Given the description of an element on the screen output the (x, y) to click on. 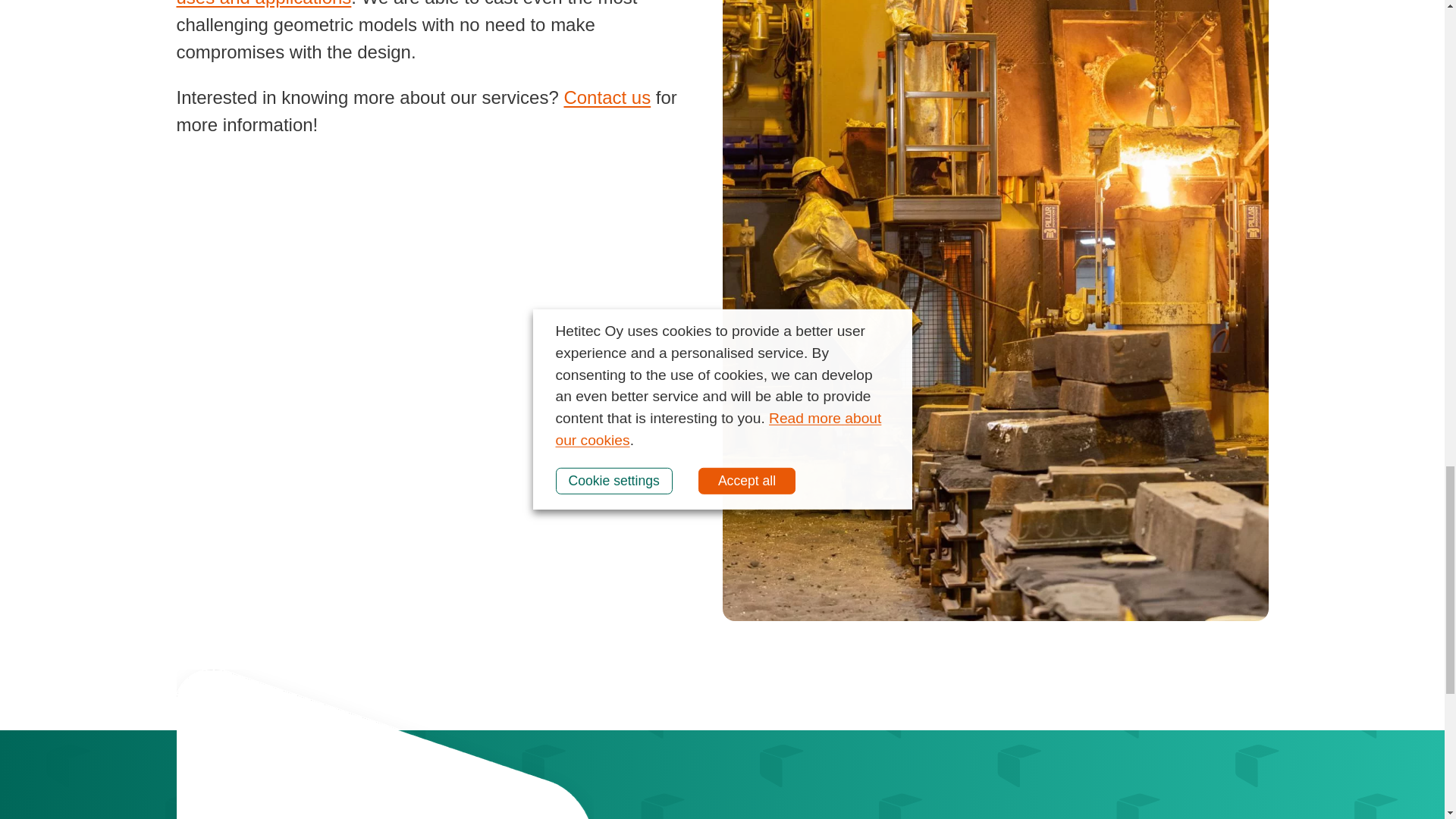
uses and applications (263, 3)
Contact us (606, 96)
